Given the description of an element on the screen output the (x, y) to click on. 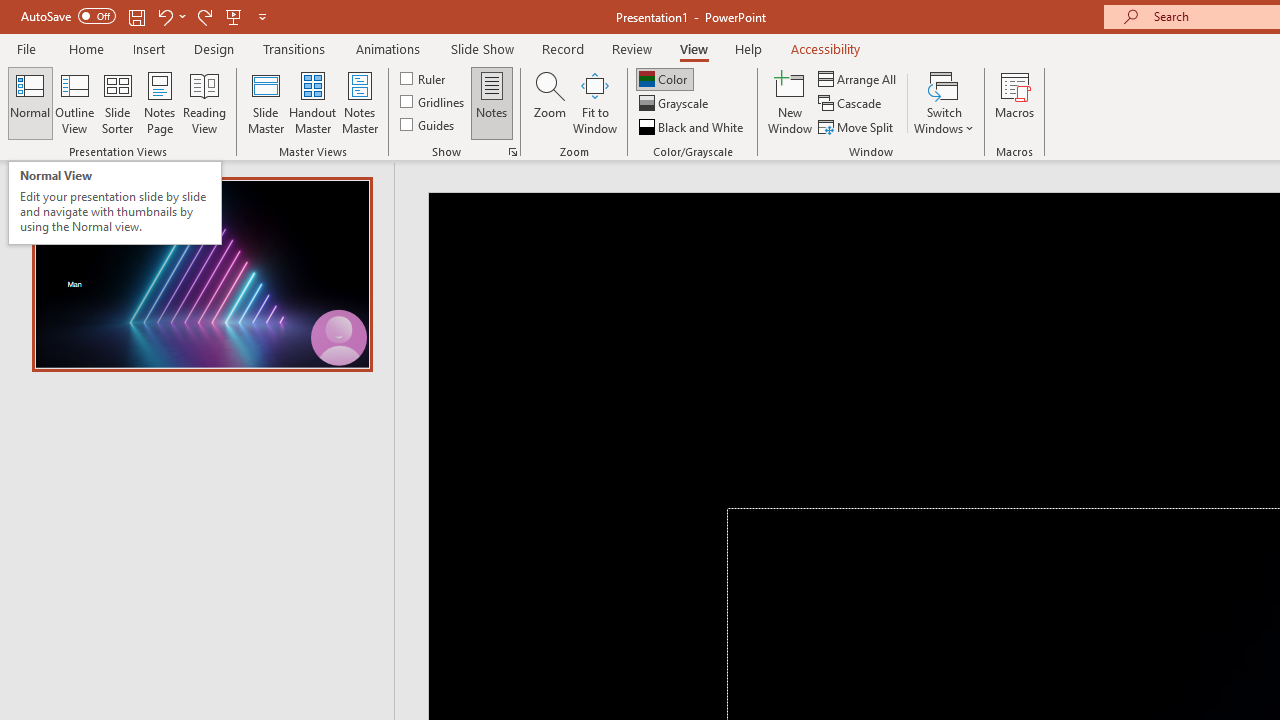
Notes Page (159, 102)
Handout Master (312, 102)
Gridlines (433, 101)
Cascade (851, 103)
